Given the description of an element on the screen output the (x, y) to click on. 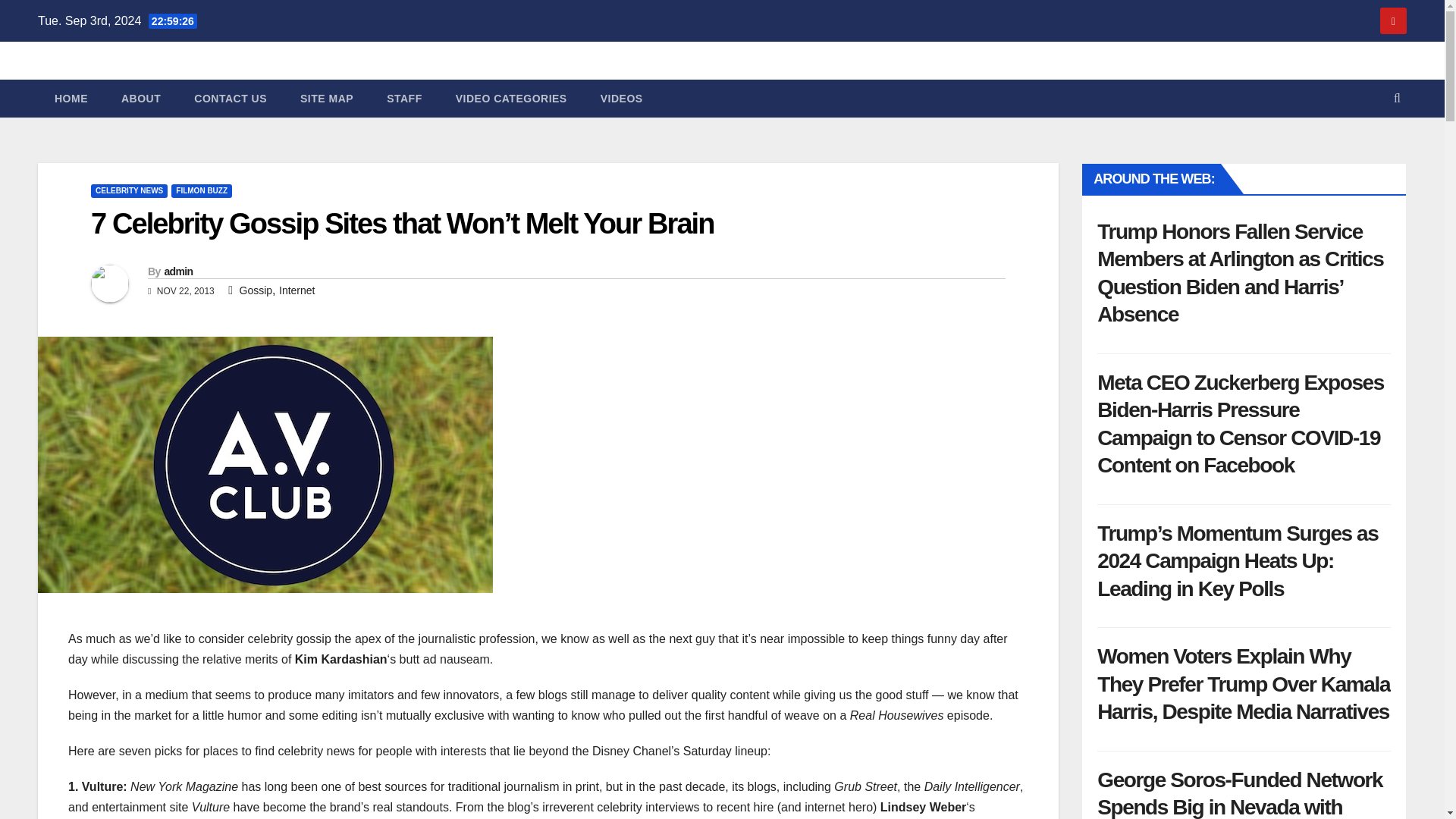
admin (177, 271)
Gossip (256, 290)
Internet (296, 290)
FILMON BUZZ (201, 191)
SITE MAP (326, 98)
ABOUT (140, 98)
VIDEO CATEGORIES (511, 98)
HOME (70, 98)
